Given the description of an element on the screen output the (x, y) to click on. 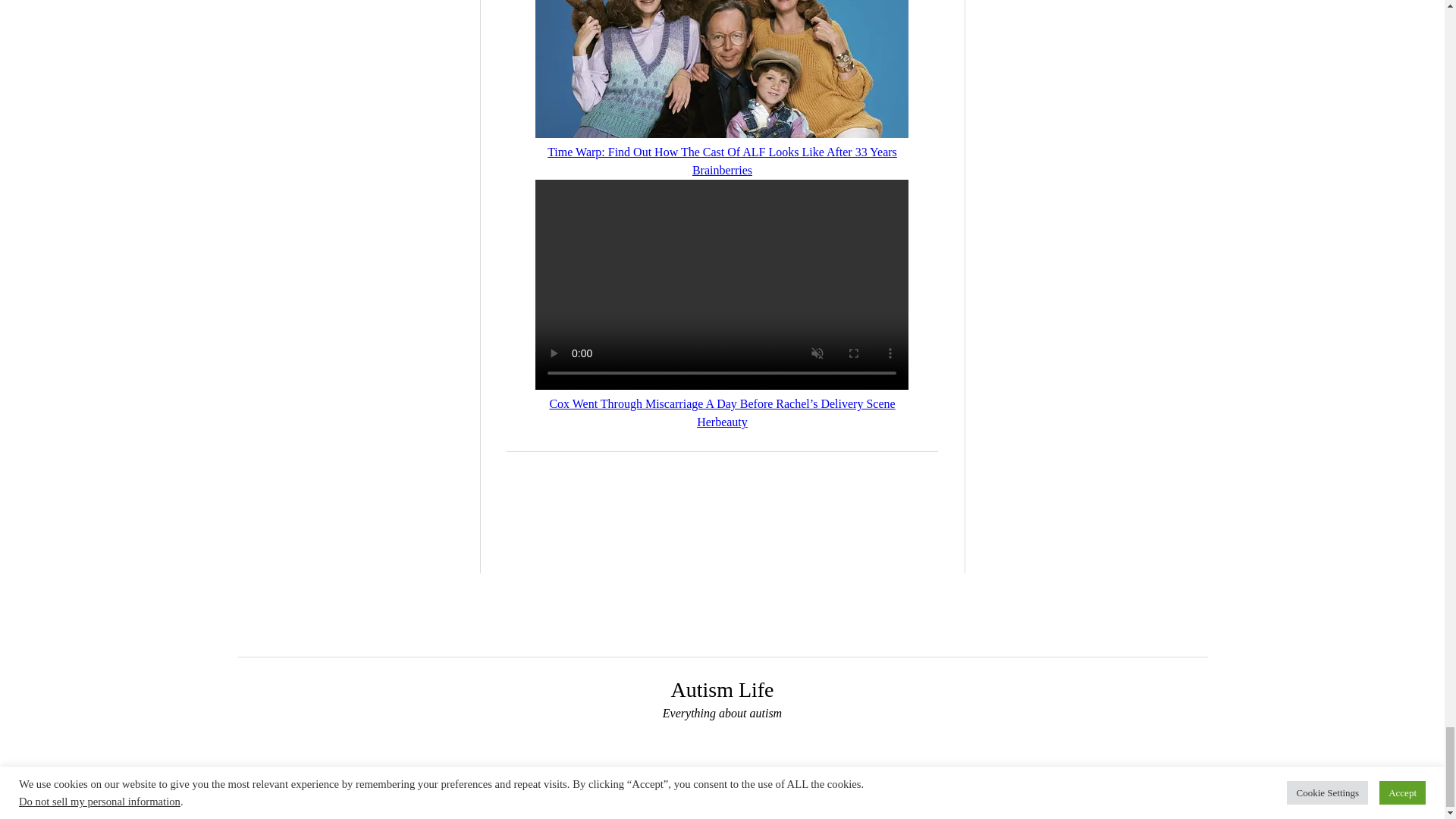
Autism Life (721, 689)
Mission News Theme (677, 801)
